Given the description of an element on the screen output the (x, y) to click on. 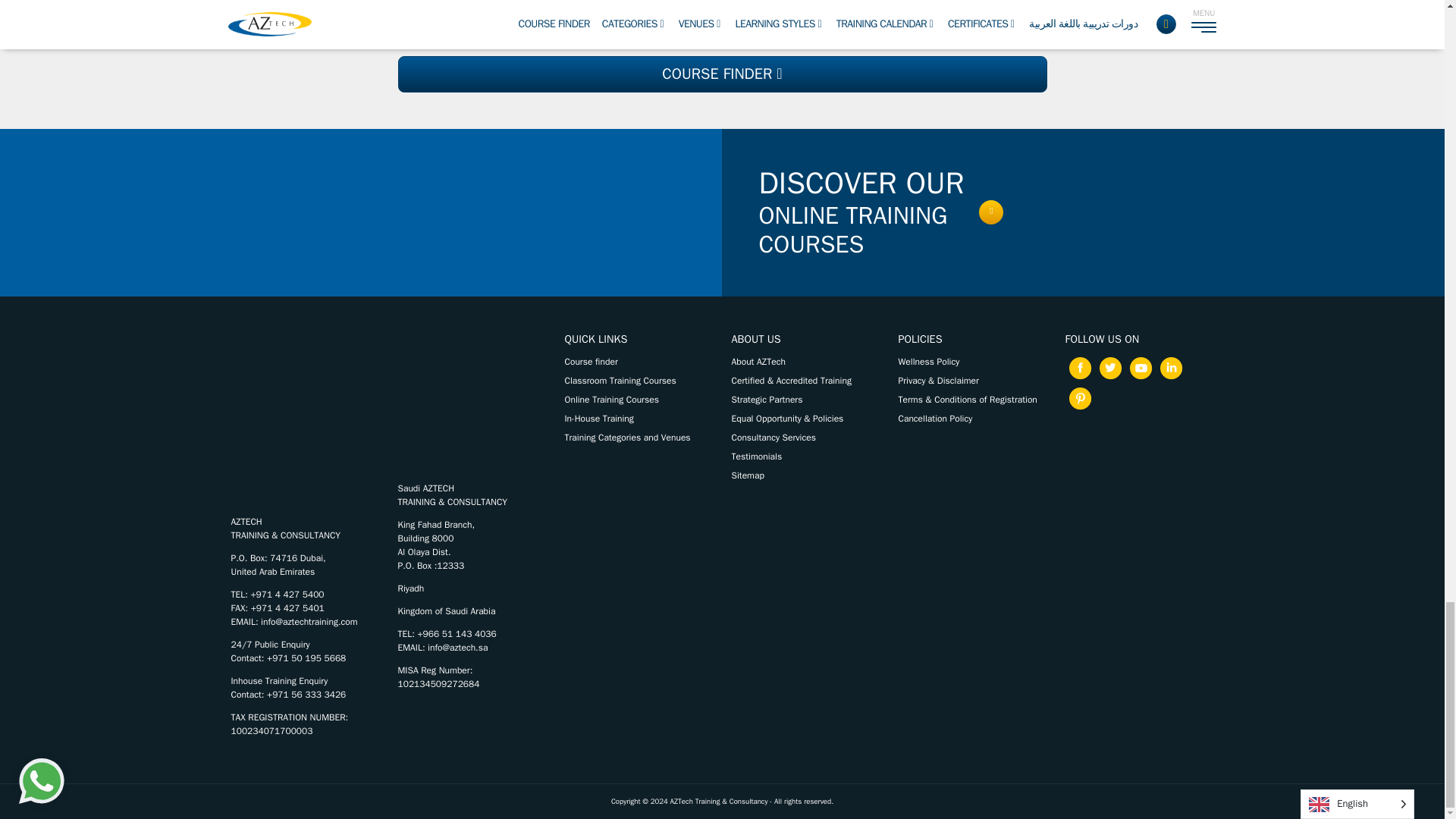
Content Protection by DMCA.com (1138, 469)
